Given the description of an element on the screen output the (x, y) to click on. 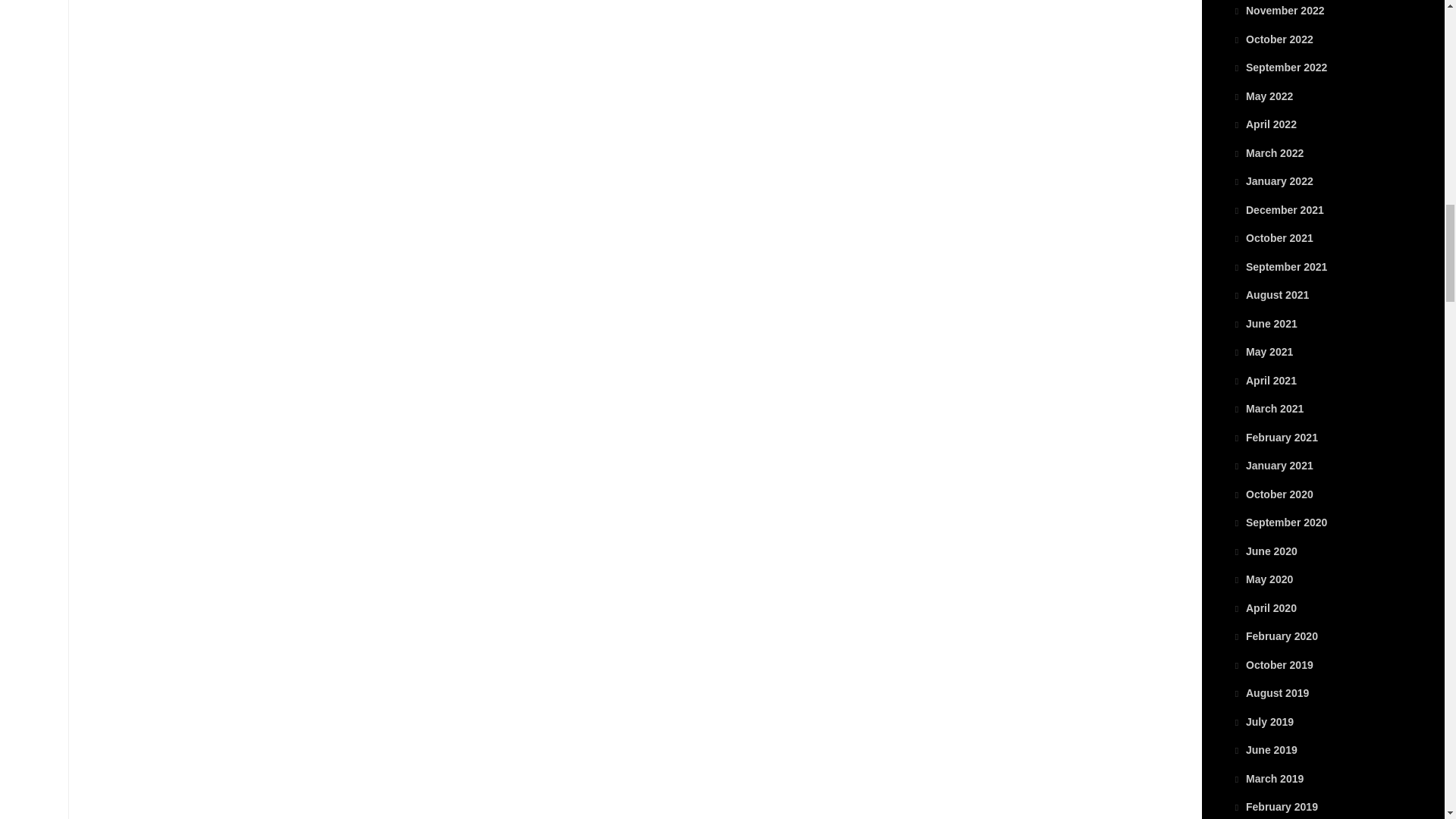
June 2020 (1264, 551)
April 2020 (1264, 607)
September 2020 (1278, 522)
September 2022 (1278, 67)
March 2022 (1267, 152)
January 2021 (1272, 465)
May 2020 (1261, 579)
February 2020 (1274, 635)
October 2022 (1272, 39)
June 2021 (1264, 323)
